Given the description of an element on the screen output the (x, y) to click on. 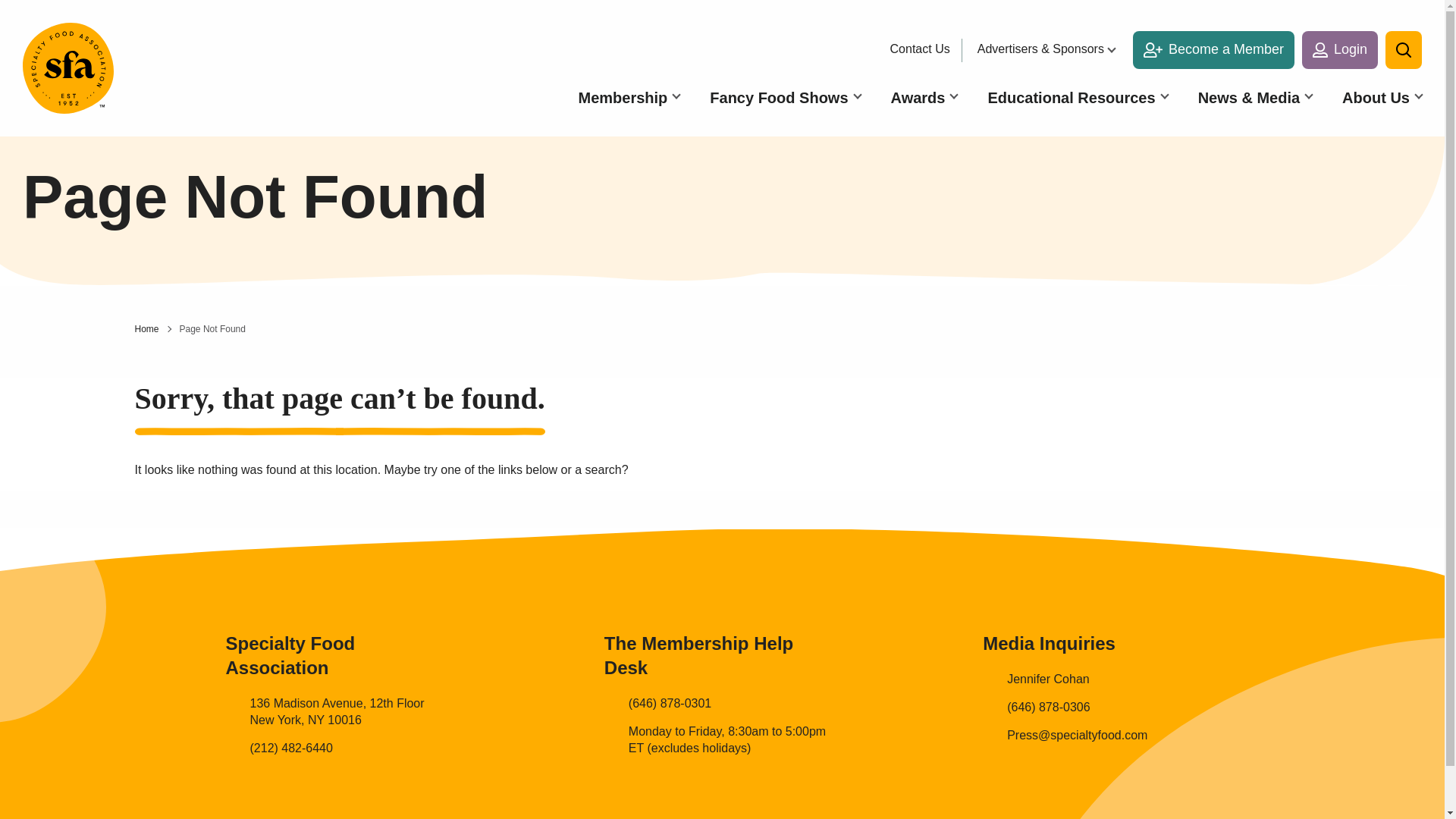
Login (1339, 49)
Membership (628, 97)
Become a Member (1213, 49)
Toggle search (1404, 49)
Contact Us (924, 49)
